Given the description of an element on the screen output the (x, y) to click on. 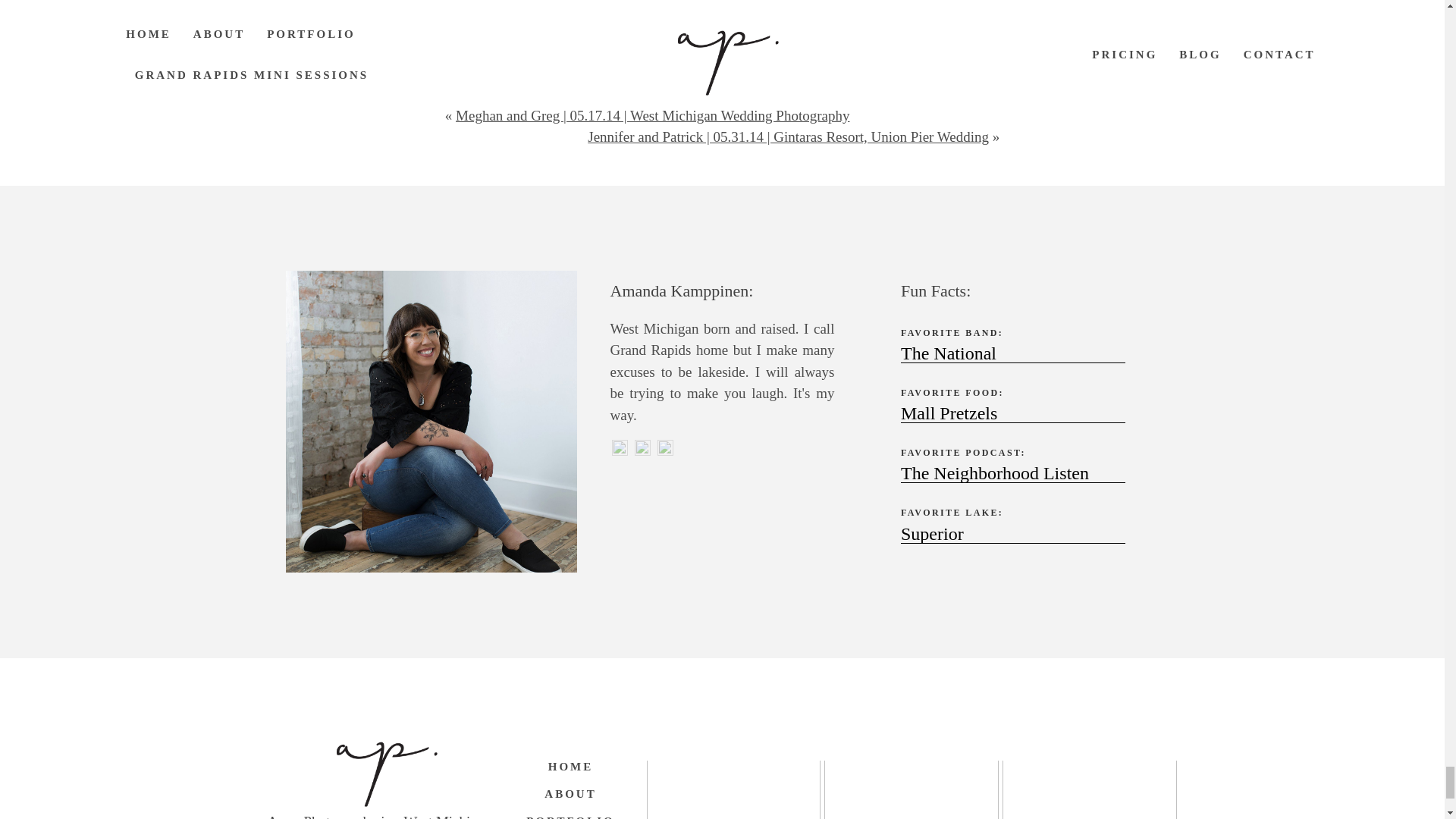
ABOUT (570, 793)
PORTFOLIO (570, 813)
HOME (570, 766)
Wedding (648, 42)
Amanda Montgomery (513, 42)
Grand Rapids Wedding Photography (853, 42)
Goei cent (734, 42)
